Given the description of an element on the screen output the (x, y) to click on. 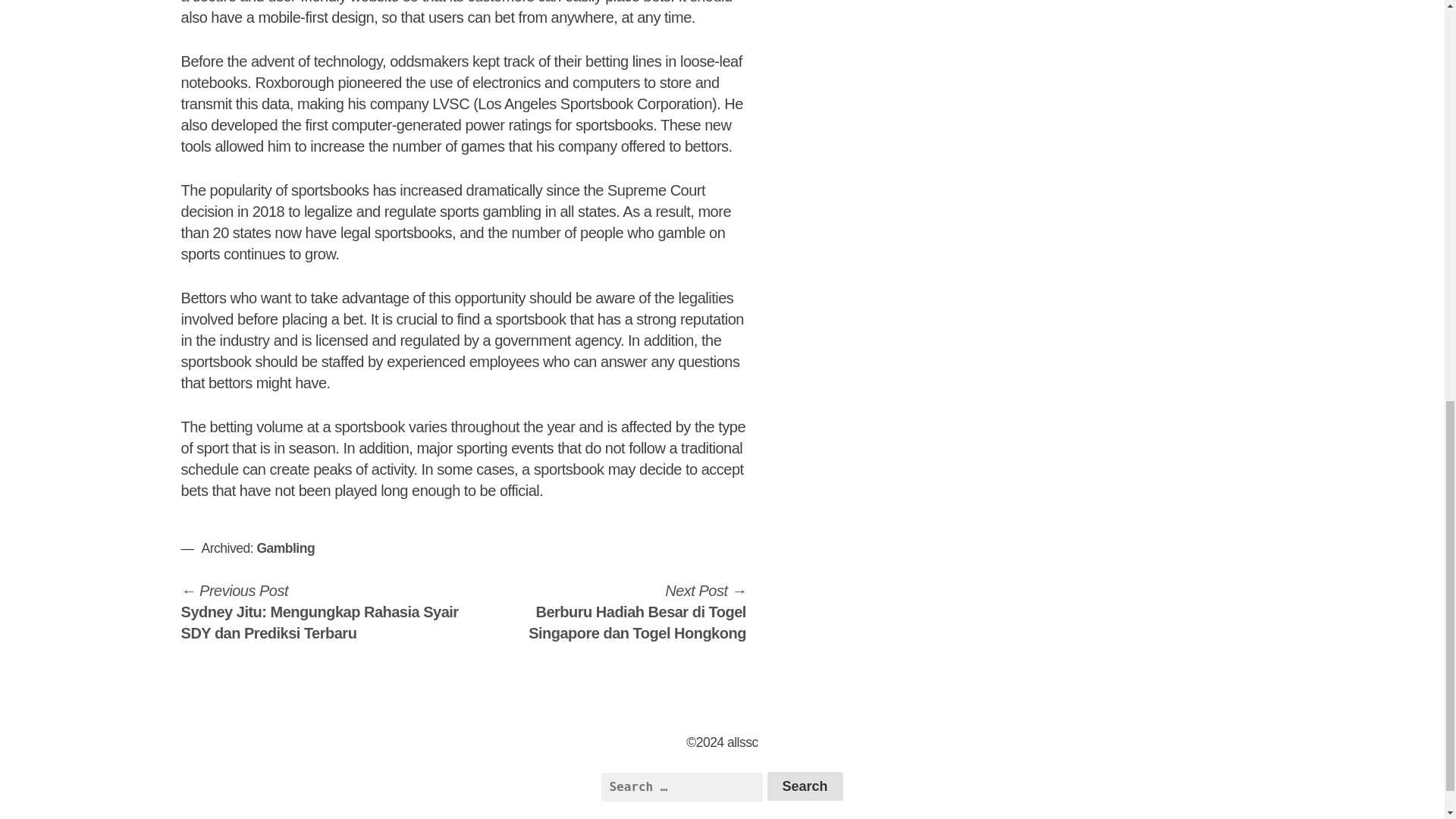
Gambling (285, 548)
Search (805, 786)
Search (805, 786)
Search (805, 786)
